Given the description of an element on the screen output the (x, y) to click on. 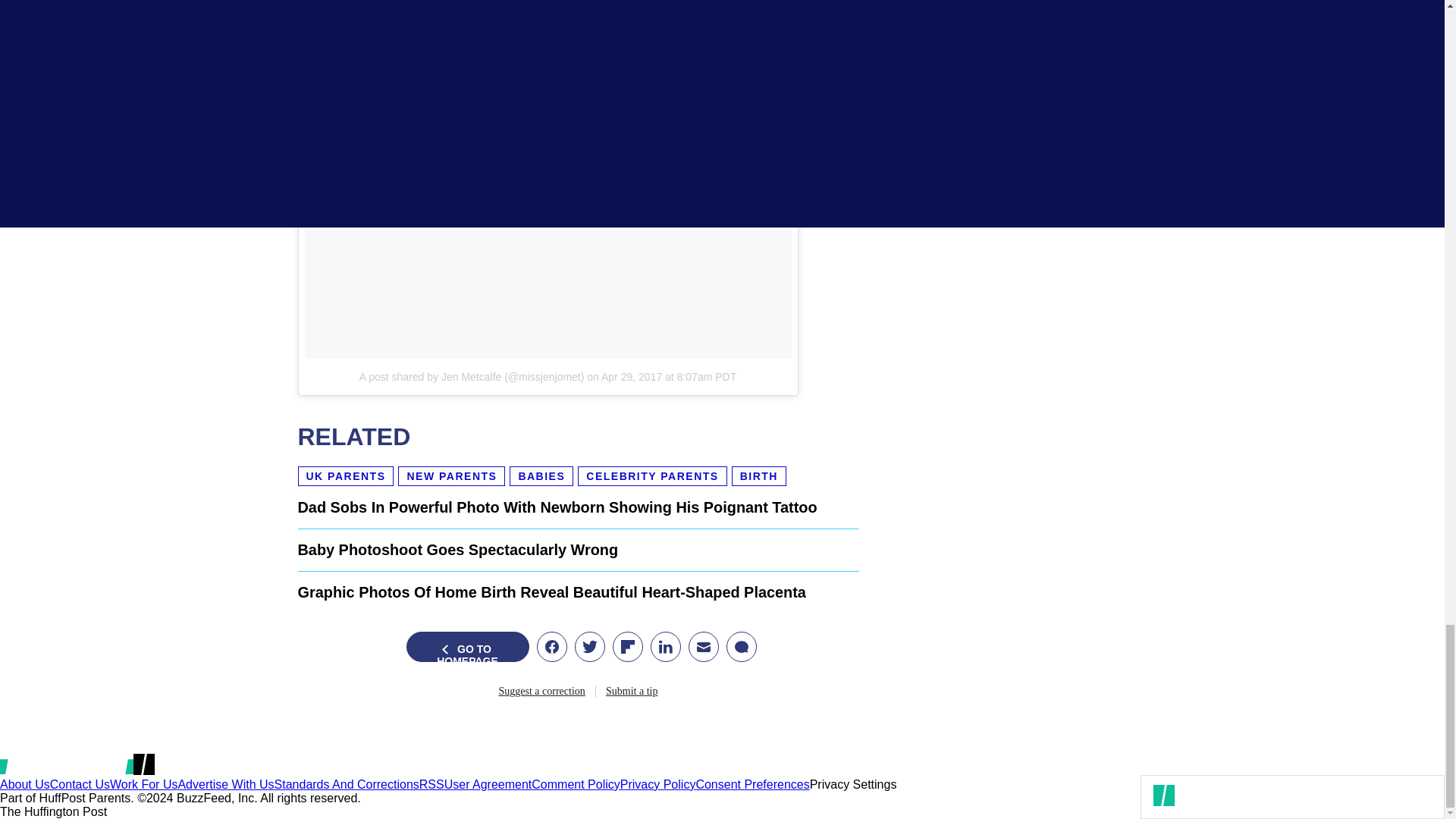
SIGN UP (1108, 108)
